Given the description of an element on the screen output the (x, y) to click on. 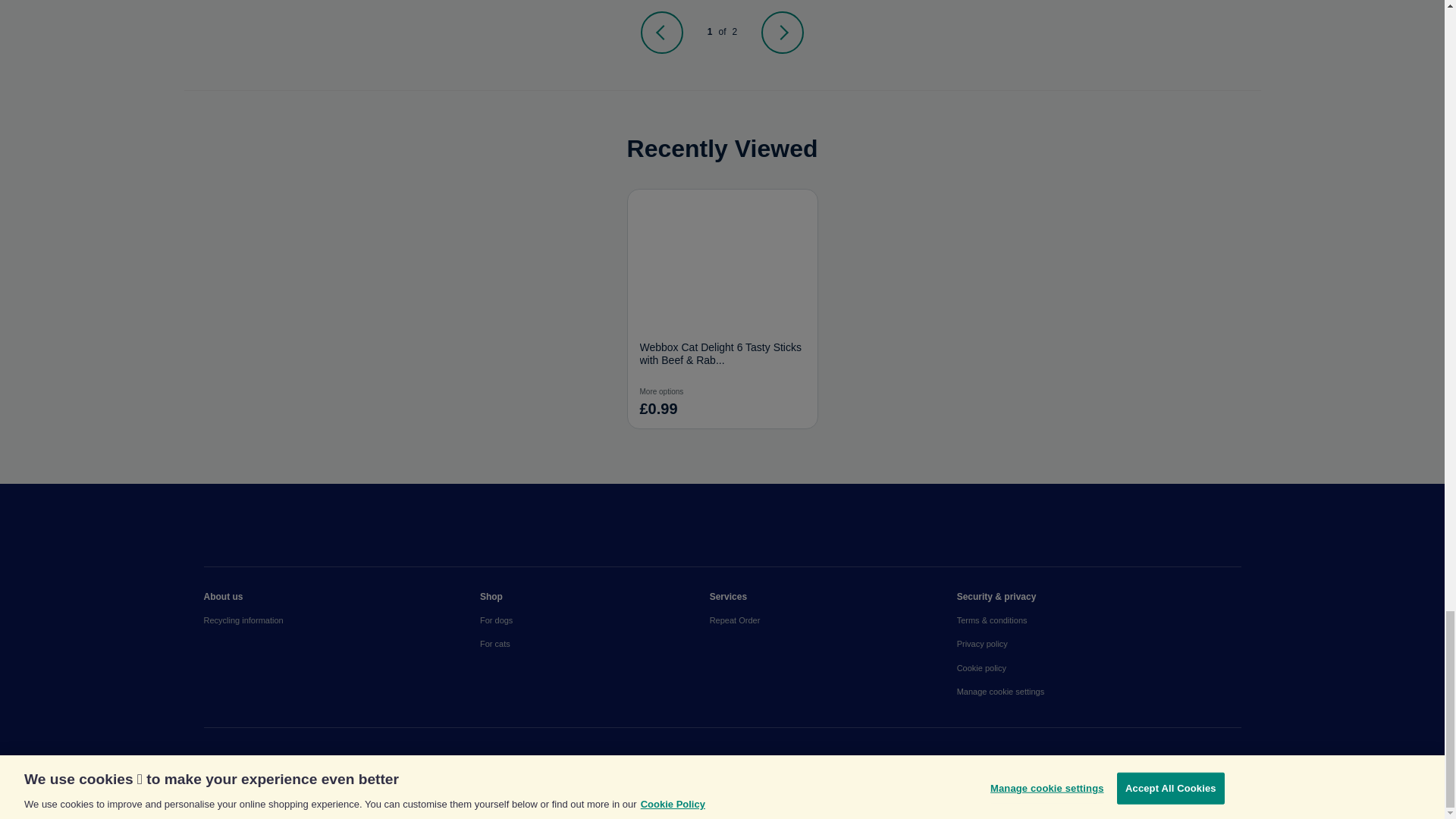
My cookie preferences (1098, 691)
Recycling information (341, 620)
For dogs (595, 620)
For cats (595, 644)
Cookie policy (1098, 668)
Privacy policy (1098, 644)
Repeat Order (833, 620)
